Given the description of an element on the screen output the (x, y) to click on. 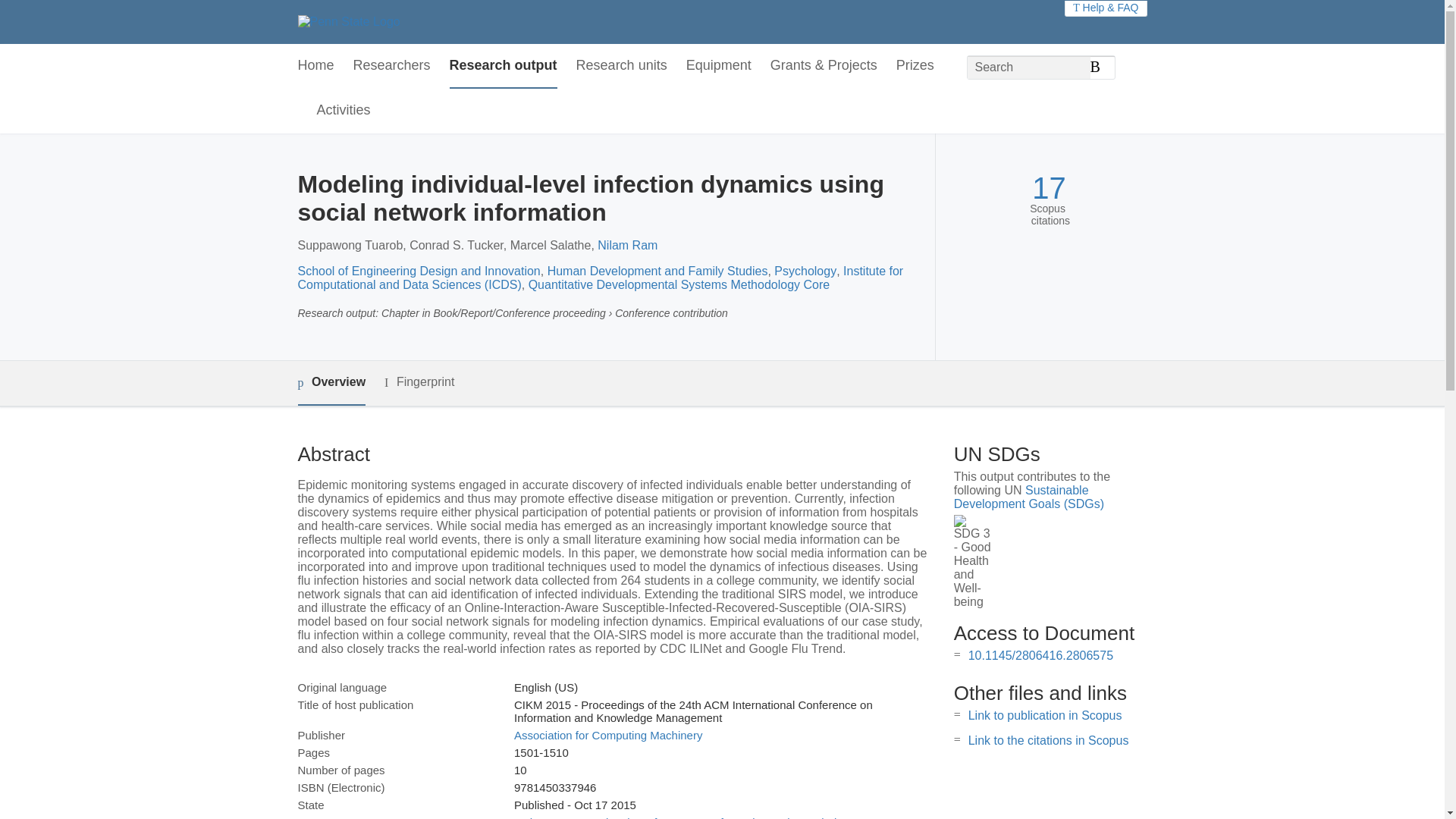
Link to the citations in Scopus (1048, 739)
Overview (331, 383)
Association for Computing Machinery (607, 735)
Nilam Ram (627, 245)
Psychology (804, 270)
Quantitative Developmental Systems Methodology Core (678, 284)
Fingerprint (419, 382)
Activities (344, 110)
Research output (503, 66)
